Given the description of an element on the screen output the (x, y) to click on. 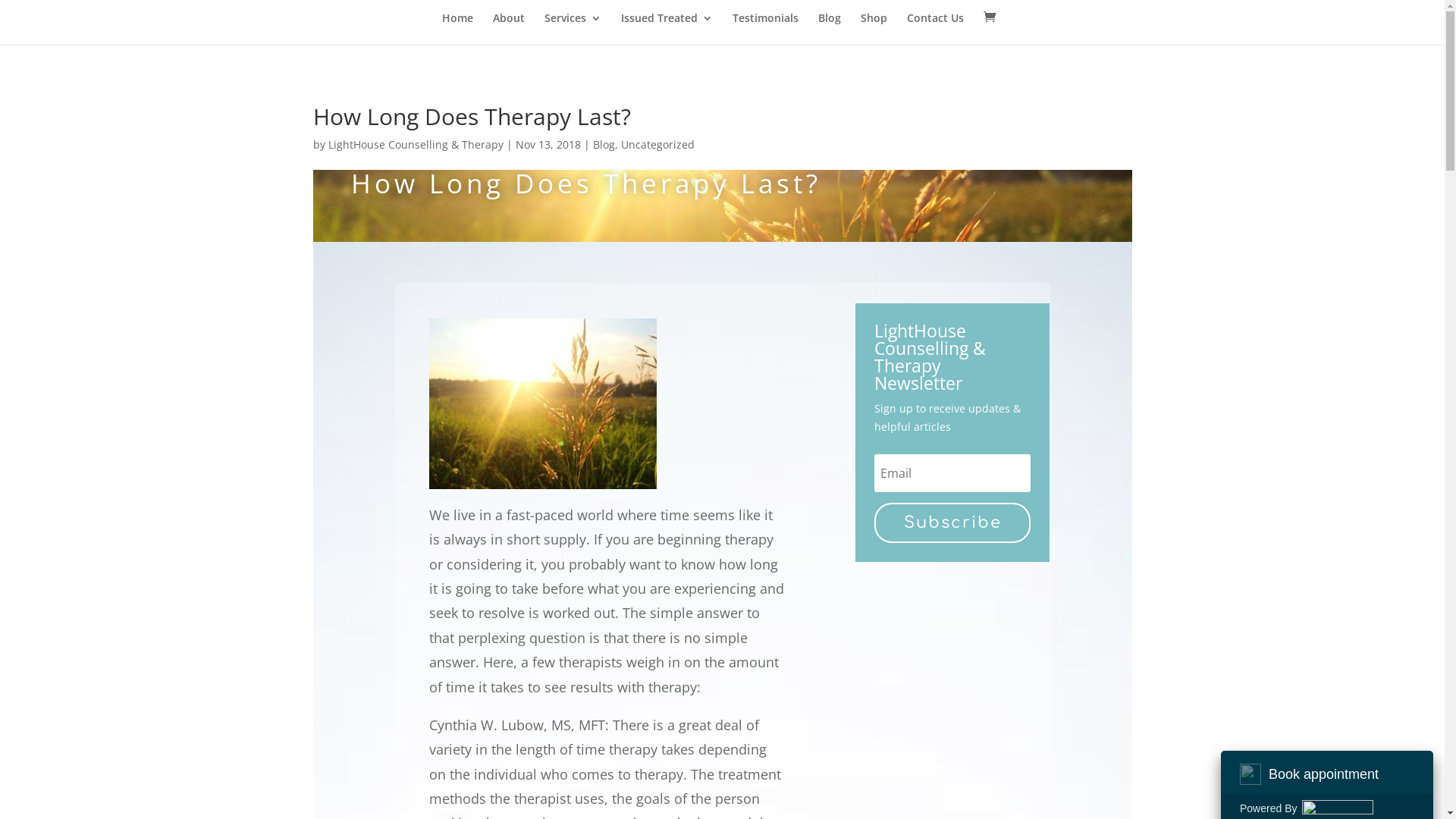
Testimonials Element type: text (765, 28)
Uncategorized Element type: text (656, 144)
Issued Treated Element type: text (666, 28)
Blog Element type: text (828, 28)
Subscribe Element type: text (952, 522)
About Element type: text (508, 28)
Shop Element type: text (872, 28)
Services Element type: text (572, 28)
Contact Us Element type: text (934, 28)
Blog Element type: text (604, 144)
LightHouse Counselling & Therapy Element type: text (414, 144)
Home Element type: text (456, 28)
